Given the description of an element on the screen output the (x, y) to click on. 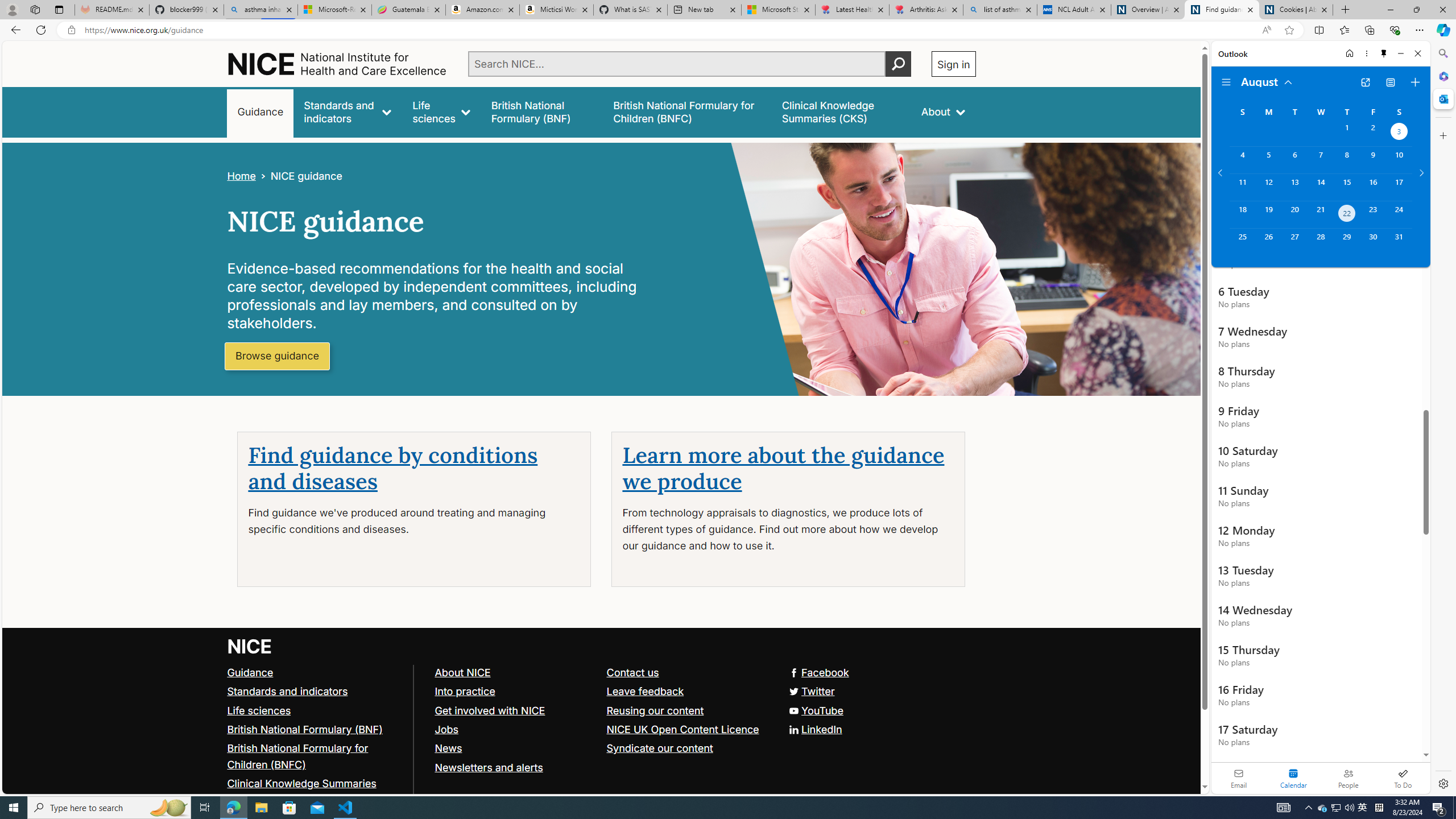
View Switcher. Current view is Agenda view (1390, 82)
Sunday, August 18, 2024.  (1242, 214)
Newsletters and alerts (488, 766)
Thursday, August 1, 2024.  (1346, 132)
Sunday, August 4, 2024.  (1242, 159)
Learn more about the guidance we produce (782, 468)
